Given the description of an element on the screen output the (x, y) to click on. 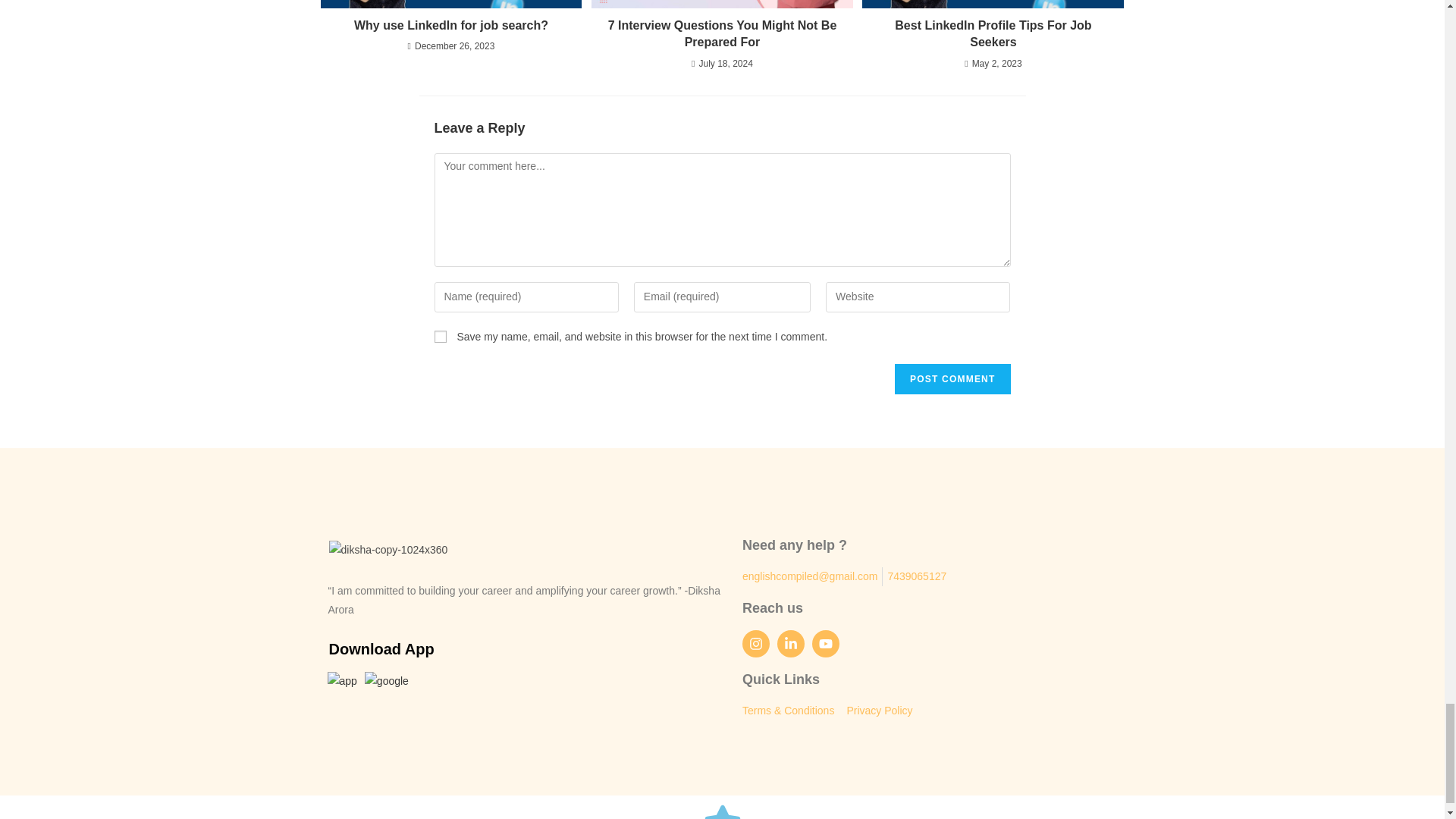
app (341, 687)
Post Comment (952, 378)
Privacy Policy (878, 710)
7 Interview Questions You Might Not Be Prepared For (721, 34)
google (387, 687)
7439065127 (916, 576)
Post Comment (952, 378)
Best LinkedIn Profile Tips For Job Seekers (992, 34)
Why use LinkedIn for job search? (450, 25)
yes (439, 336)
